Given the description of an element on the screen output the (x, y) to click on. 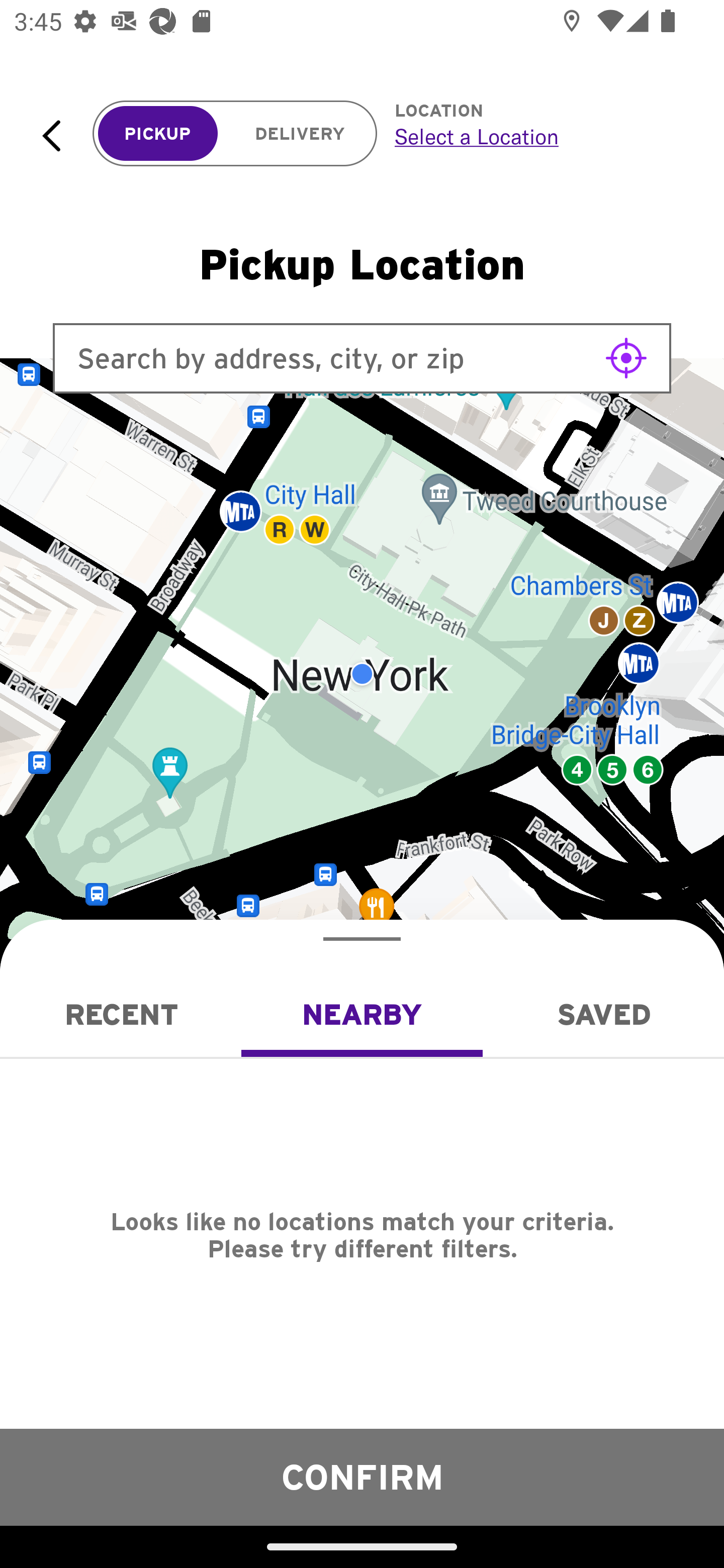
PICKUP (157, 133)
DELIVERY (299, 133)
Select a Location (536, 136)
Search by address, city, or zip (361, 358)
Google Map (362, 674)
Recent RECENT (120, 1014)
Saved SAVED (603, 1014)
CONFIRM (362, 1476)
